Given the description of an element on the screen output the (x, y) to click on. 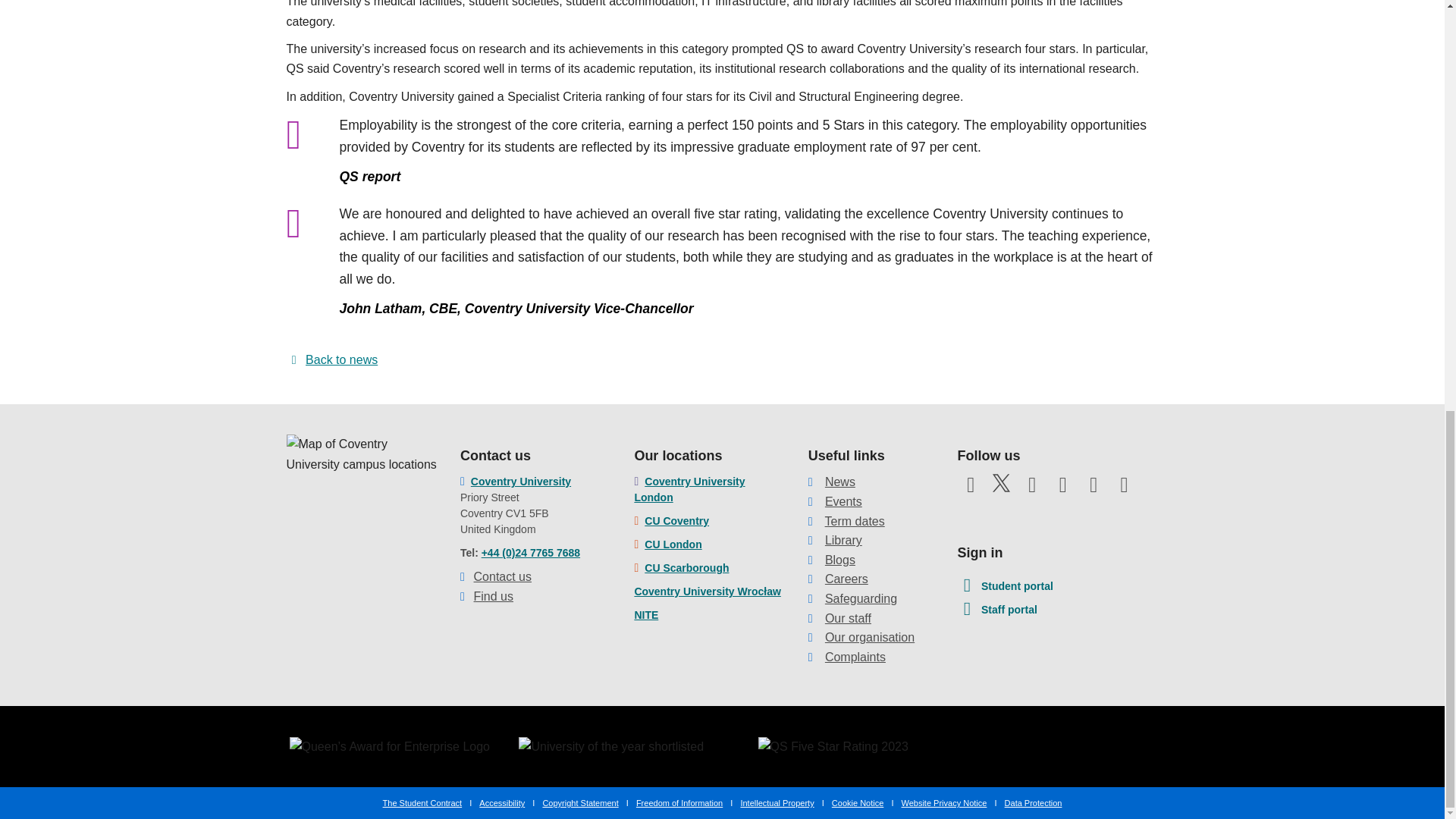
Events (843, 501)
Follow us on TikTok (970, 513)
Careers (846, 578)
Subscribe to our YouTube Channel (1031, 489)
Like us on Facebook (970, 489)
Follow us on Instagram (1063, 489)
Our organisation (869, 636)
QS Five Star Rating 2023 (833, 746)
Our staff (847, 617)
Library (843, 540)
